Given the description of an element on the screen output the (x, y) to click on. 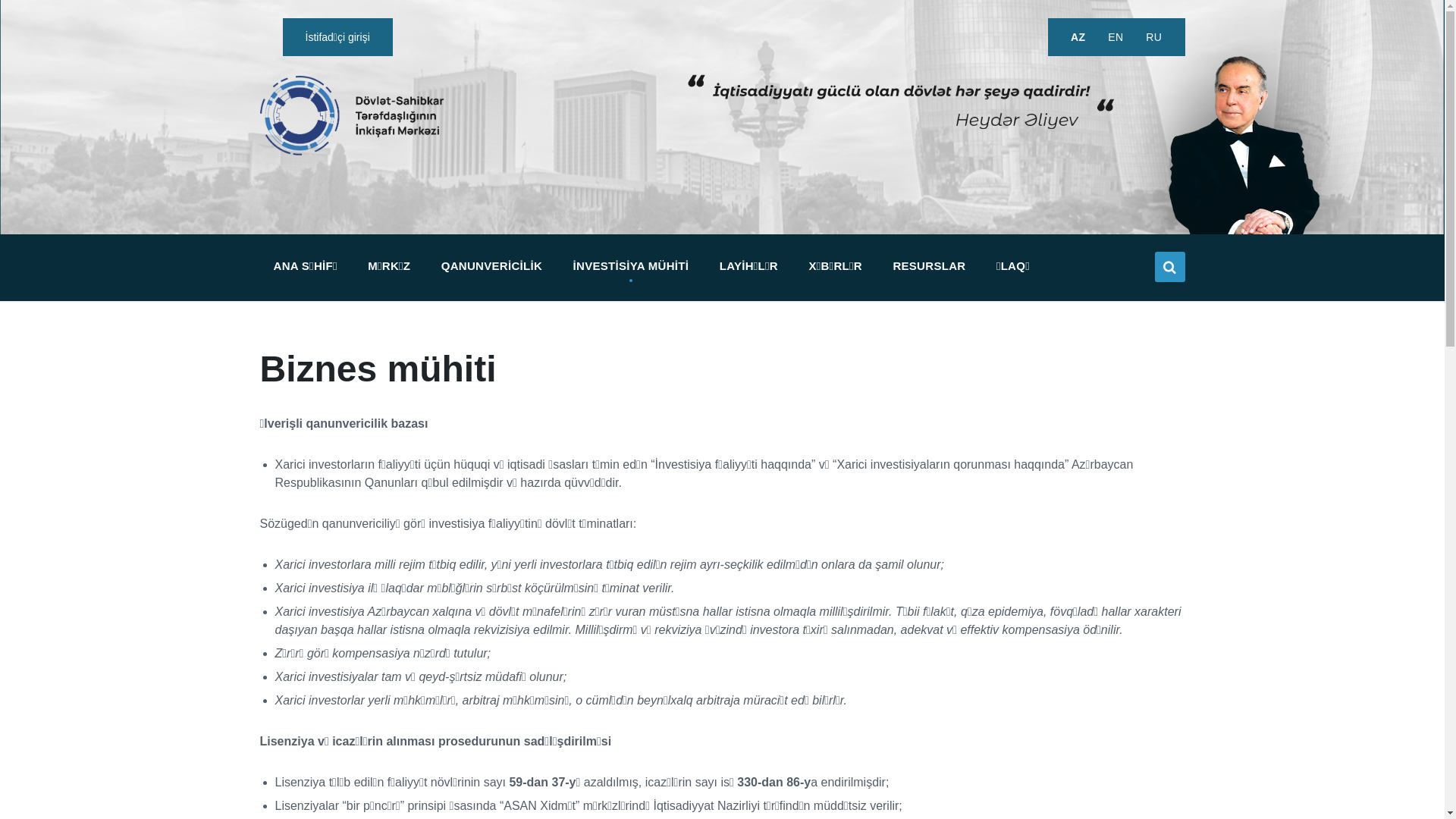
QANUNVERICILIK Element type: text (491, 266)
AZ Element type: text (1077, 37)
RESURSLAR Element type: text (928, 266)
RU Element type: text (1153, 37)
EN Element type: text (1115, 37)
Expand search Element type: hover (1169, 266)
